Given the description of an element on the screen output the (x, y) to click on. 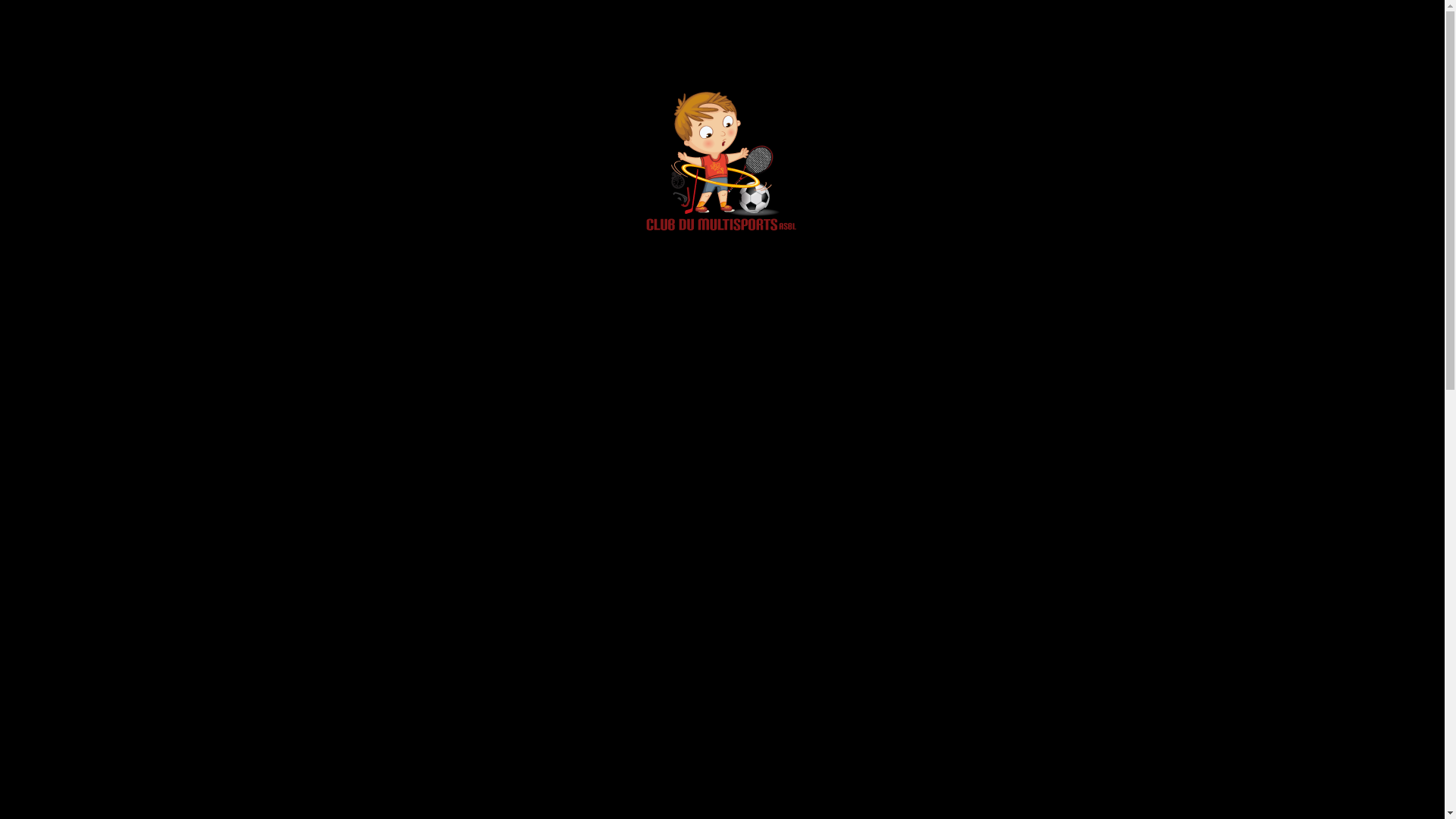
JE M'INSCRIS Element type: text (1090, 554)
INITIATION SPORTIVE ET NATATION POUR LES 6 -7 ANS Element type: text (400, 420)
PERFECTIONNEMENT ET NATATION POUR LES 8 - 12 ANS Element type: text (404, 467)
GALERIE PHOTOS Element type: text (970, 149)
ACCUEIL Element type: text (1061, 229)
Connexion Element type: text (607, 63)
A. JAICHI BLD. METTEWIE, 75 -BTE M32 1080 BRUXELLES Element type: text (403, 762)
STAGES DE VACANCES Element type: text (858, 149)
Stages sportifs - TOUSSAINT 2023 Element type: text (933, 307)
Inscriptions Element type: text (541, 63)
CONTACT Element type: text (1126, 149)
MOBILE: 0486.316.668 Element type: text (379, 801)
STAGES SPORTIFS - VACANCES SCOLAIRES TOUSSAINT 2023 Element type: text (404, 513)
ACCUEIL Element type: text (519, 149)
